Given the description of an element on the screen output the (x, y) to click on. 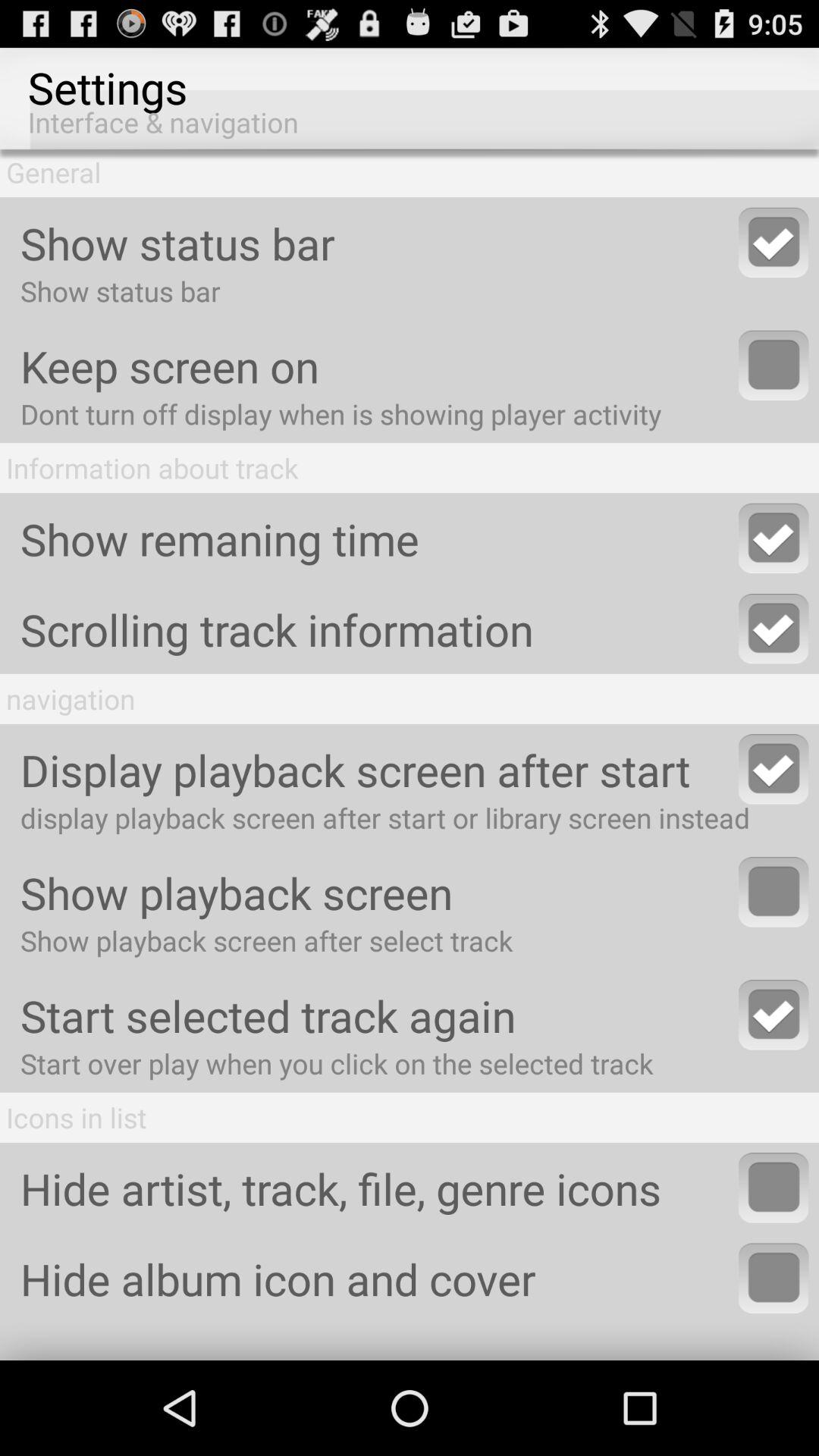
select keep screen on (773, 365)
